Given the description of an element on the screen output the (x, y) to click on. 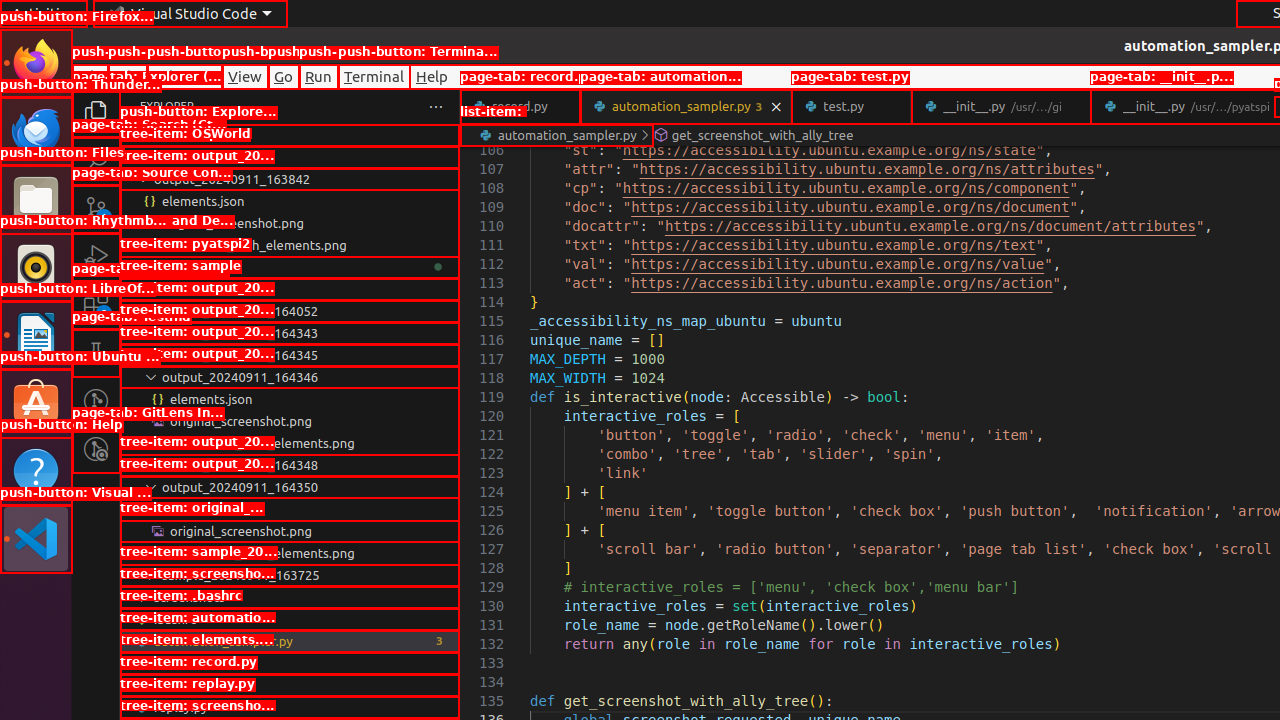
Run Element type: push-button (318, 76)
output_20240911_163842 Element type: tree-item (289, 179)
Edit Element type: push-button (127, 76)
Explorer Section: osworld Element type: push-button (289, 135)
Search (Ctrl+Shift+F) Element type: page-tab (96, 160)
